Given the description of an element on the screen output the (x, y) to click on. 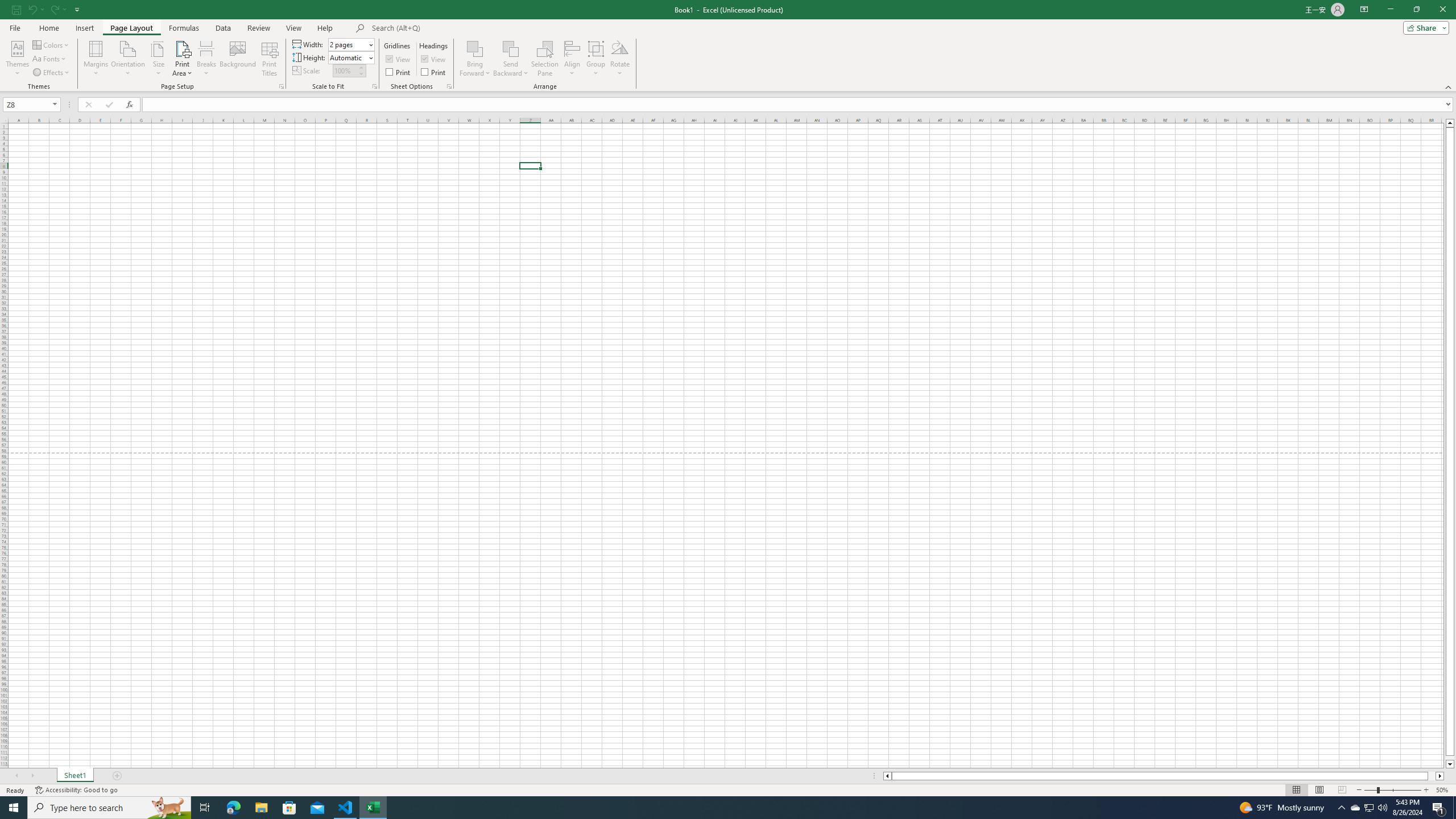
Colors (51, 44)
More (360, 67)
Page Setup (374, 85)
Send Backward (510, 58)
Width (350, 44)
Width (347, 44)
Height (350, 56)
Height (347, 57)
